Given the description of an element on the screen output the (x, y) to click on. 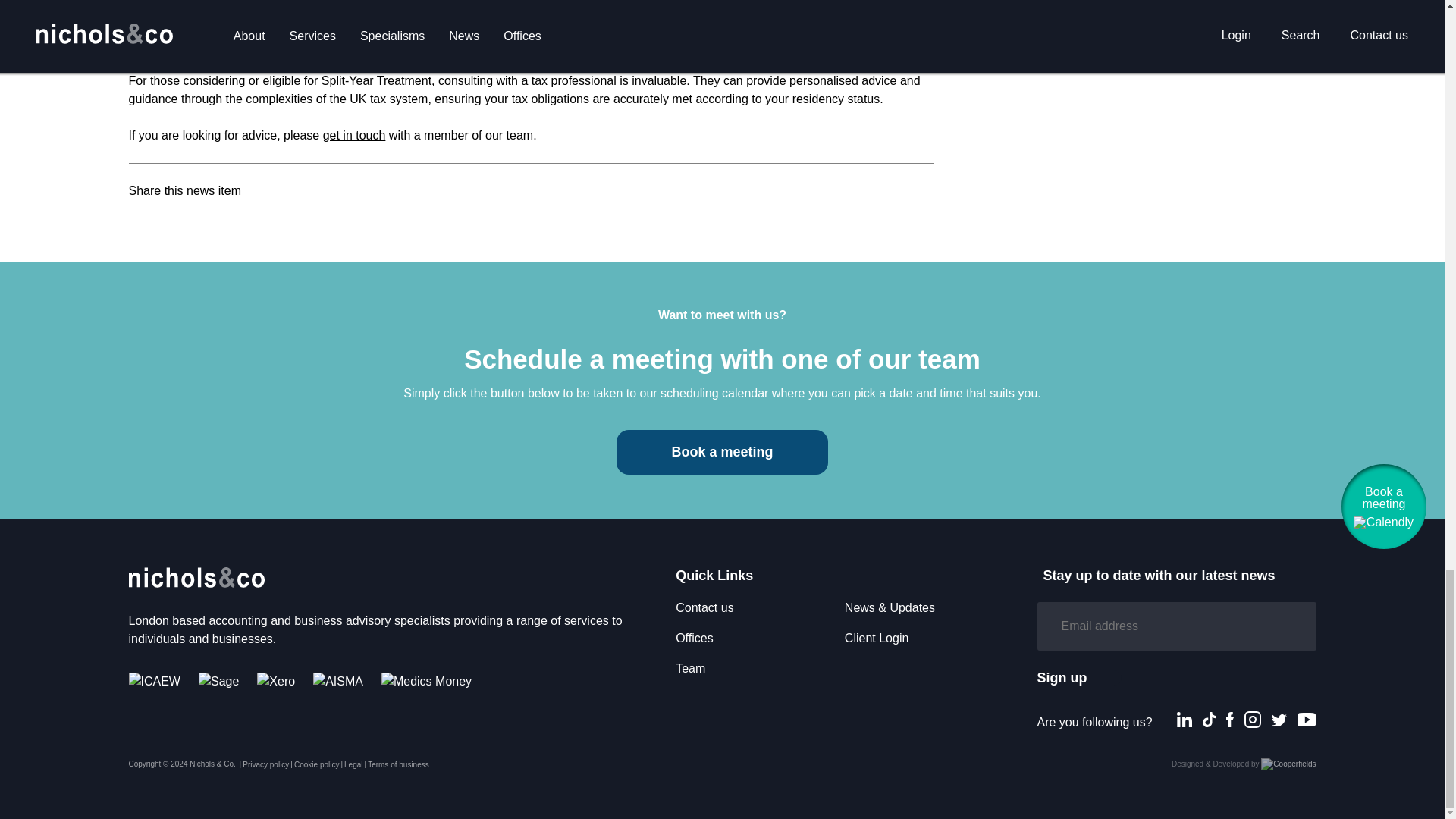
LinkedIn (1184, 719)
Instagram (1252, 719)
